Given the description of an element on the screen output the (x, y) to click on. 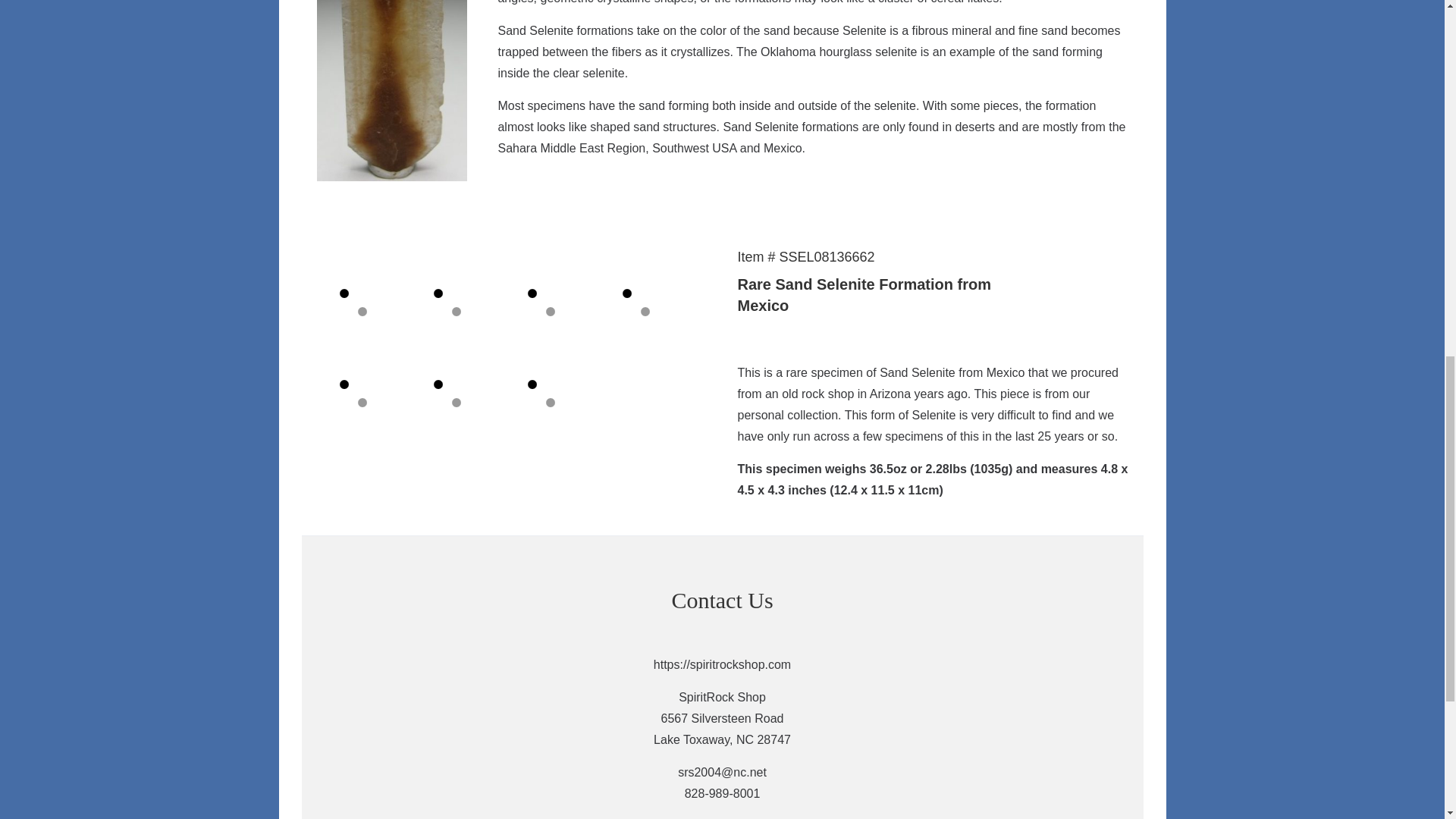
Spirit Rock Shop (500, 729)
828-989-8001 (722, 793)
Animated moving meteor in sky (943, 729)
